Given the description of an element on the screen output the (x, y) to click on. 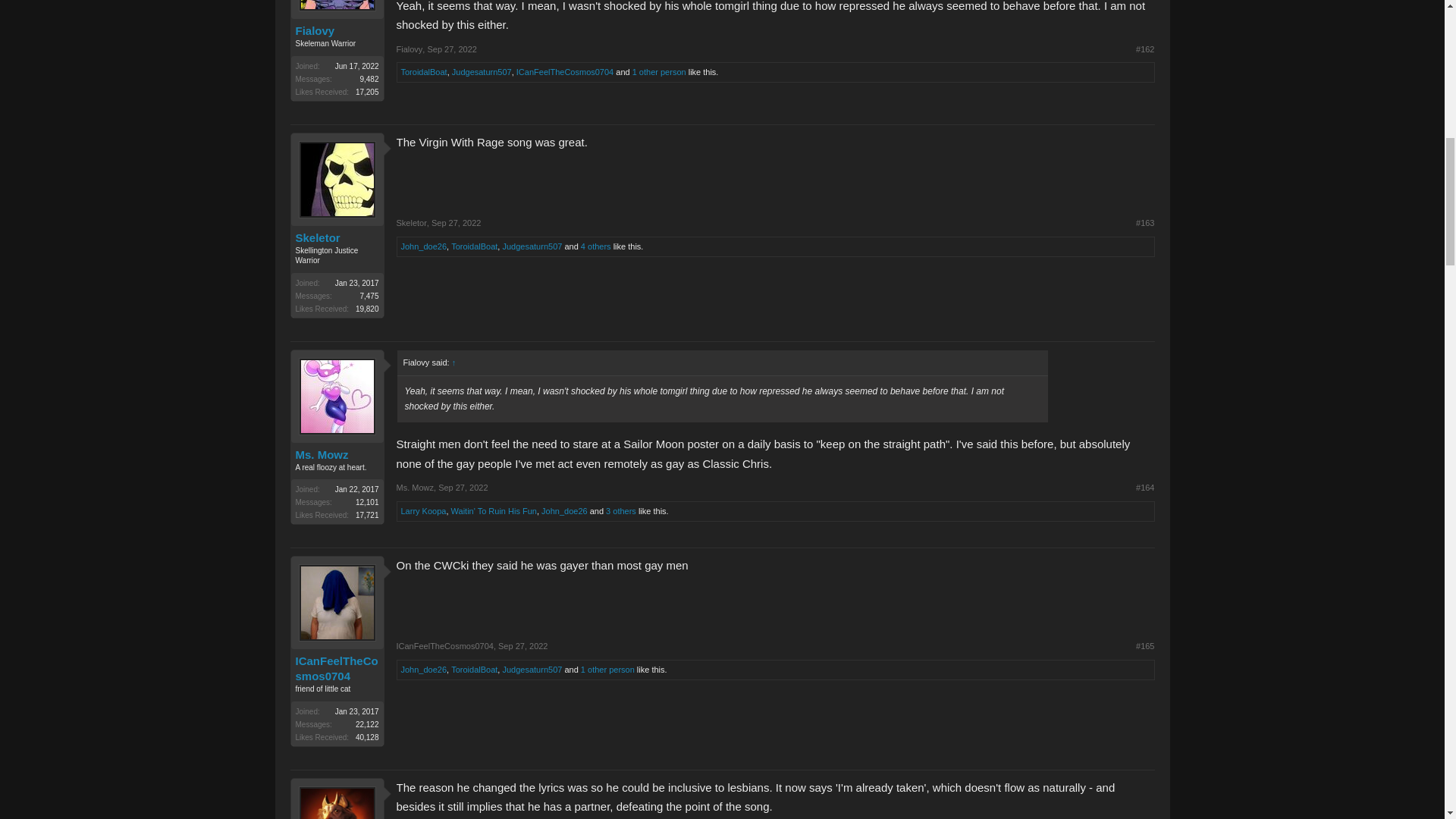
Permalink (522, 645)
Permalink (451, 49)
Permalink (462, 487)
Permalink (455, 222)
Permalink (1144, 223)
Permalink (1144, 645)
Permalink (1144, 487)
Permalink (1144, 49)
